Given the description of an element on the screen output the (x, y) to click on. 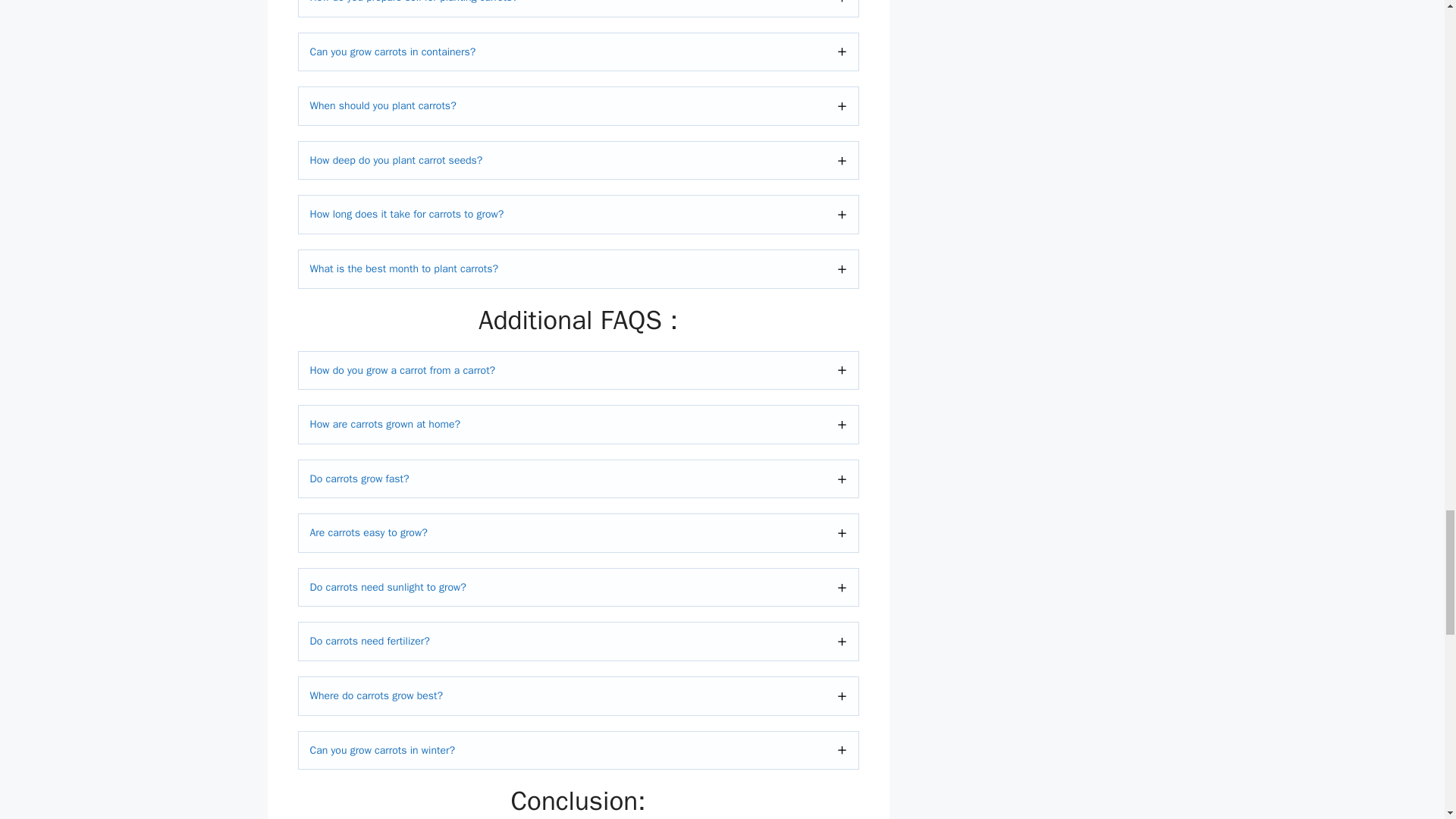
How deep do you plant carrot seeds? (578, 160)
How long does it take for carrots to grow? (578, 214)
When should you plant carrots? (578, 105)
What is the best month to plant carrots? (578, 269)
Do carrots grow fast? (578, 478)
Do carrots need sunlight to grow? (578, 587)
How do you prepare soil for planting carrots? (578, 8)
Do carrots need fertilizer? (578, 641)
How do you grow a carrot from a carrot? (578, 370)
How are carrots grown at home? (578, 424)
Can you grow carrots in winter? (578, 750)
Can you grow carrots in containers? (578, 52)
Where do carrots grow best? (578, 695)
Are carrots easy to grow? (578, 533)
